Given the description of an element on the screen output the (x, y) to click on. 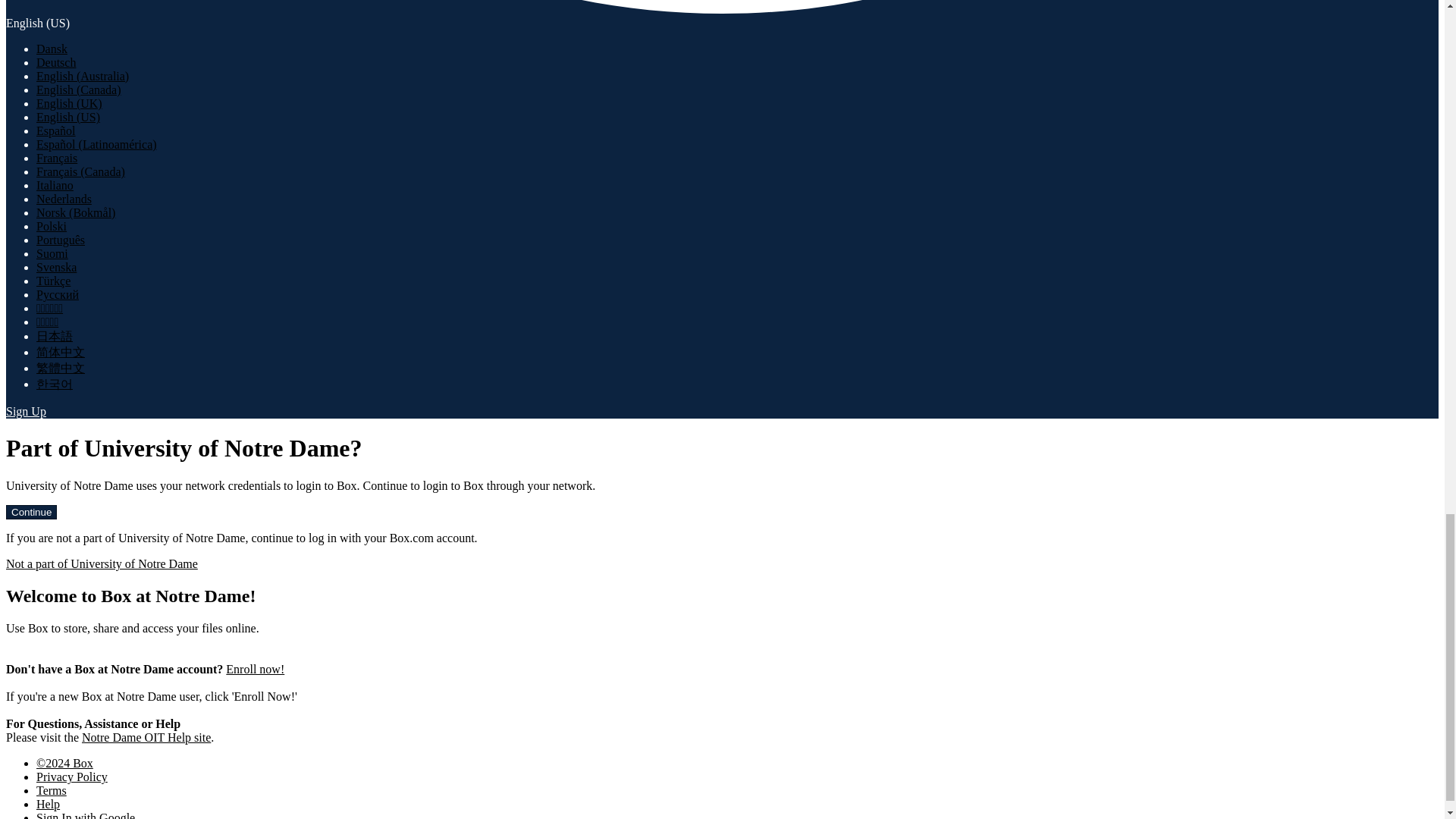
Terms (51, 789)
Deutsch (55, 62)
Polski (51, 226)
Notre Dame OIT Help site (146, 737)
Continue (30, 512)
Dansk (51, 48)
Help (47, 803)
Not a part of University of Notre Dame (101, 563)
Enroll now! (254, 668)
Suomi (52, 253)
Italiano (55, 185)
Svenska (56, 267)
Privacy Policy (71, 776)
Sign Up (25, 410)
Nederlands (63, 198)
